Given the description of an element on the screen output the (x, y) to click on. 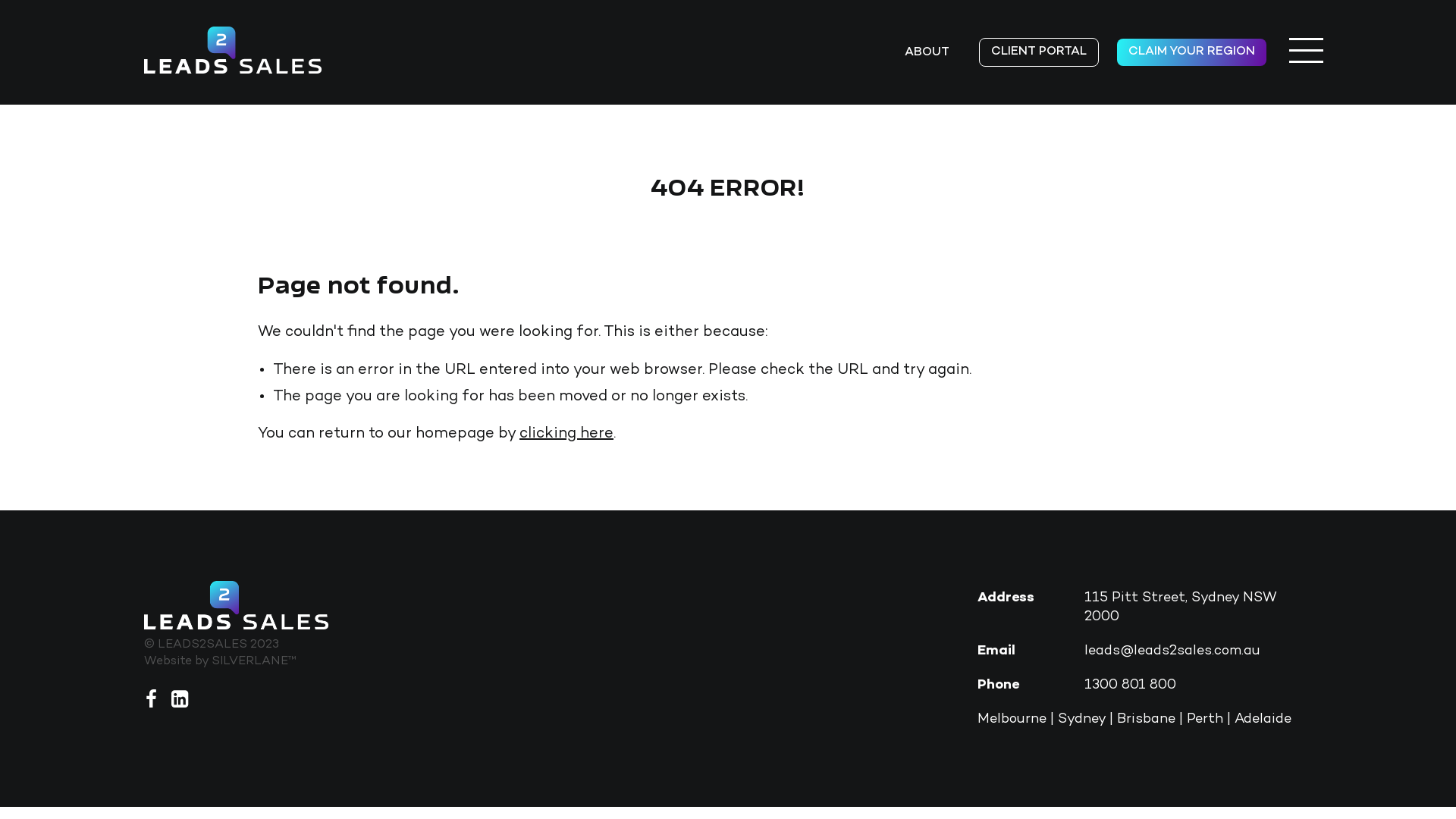
leads@leads2sales.com.au Element type: text (1172, 650)
LEADS2SALES Element type: hover (232, 49)
clicking here Element type: text (566, 434)
1300 801 800 Element type: text (1130, 684)
CLIENT PORTAL Element type: text (1038, 51)
ABOUT Element type: text (926, 52)
CLAIM YOUR REGION Element type: text (1191, 51)
